Given the description of an element on the screen output the (x, y) to click on. 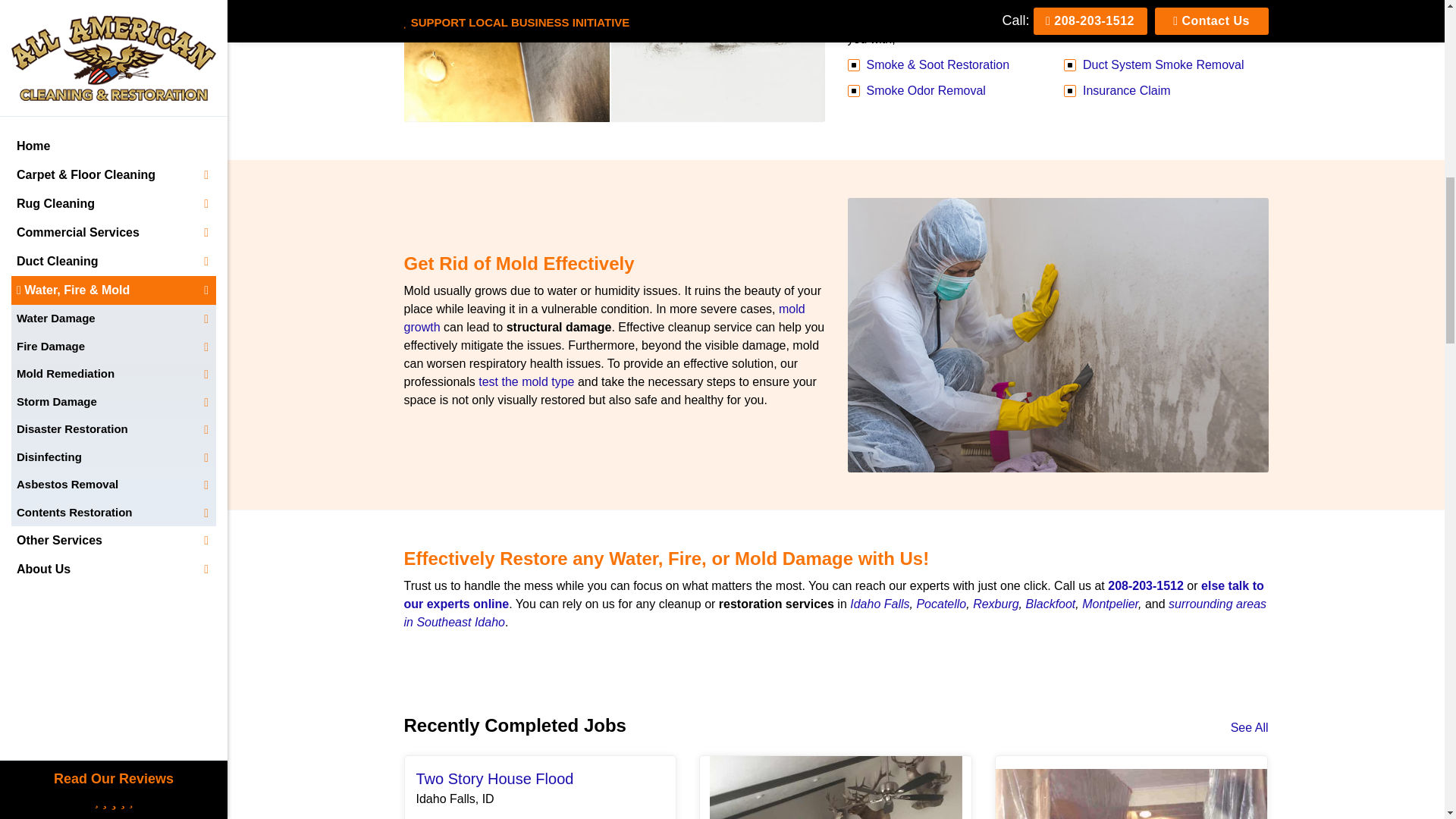
surrounding areas in Southeast Idaho (834, 612)
See All (1249, 728)
else talk to our experts online (833, 594)
Rexburg (994, 603)
Smoke Odor Removal (925, 90)
208-203-1512 (1145, 585)
Blackfoot (1050, 603)
Montpelier (1109, 603)
Idaho Falls (879, 603)
Insurance Claim (1126, 90)
